Given the description of an element on the screen output the (x, y) to click on. 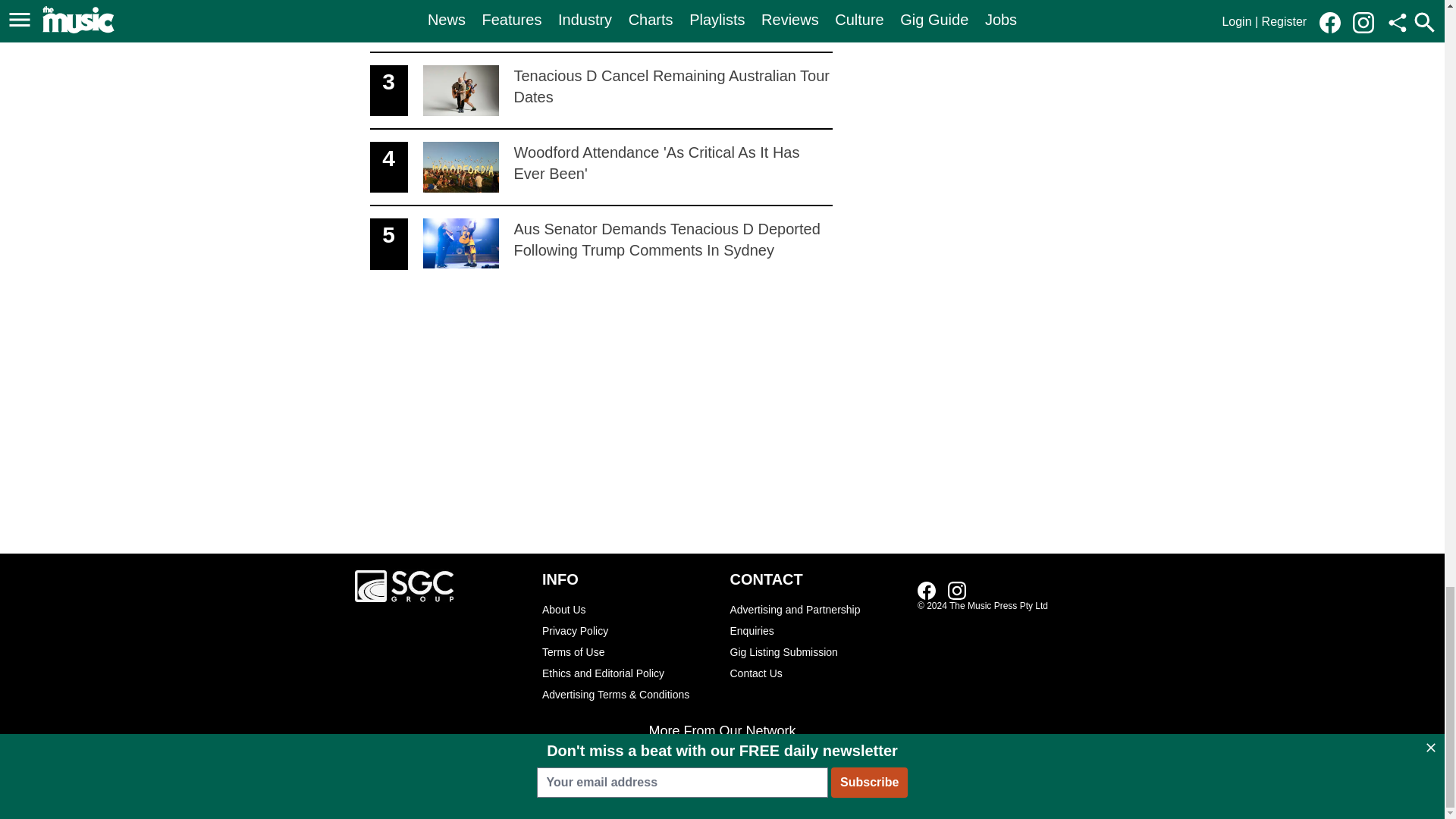
About Us (627, 608)
Link to our Instagram (956, 590)
Link to our Facebook (926, 590)
Ethics and Editorial Policy (600, 167)
Privacy Policy (600, 91)
Terms of Use (627, 672)
